Given the description of an element on the screen output the (x, y) to click on. 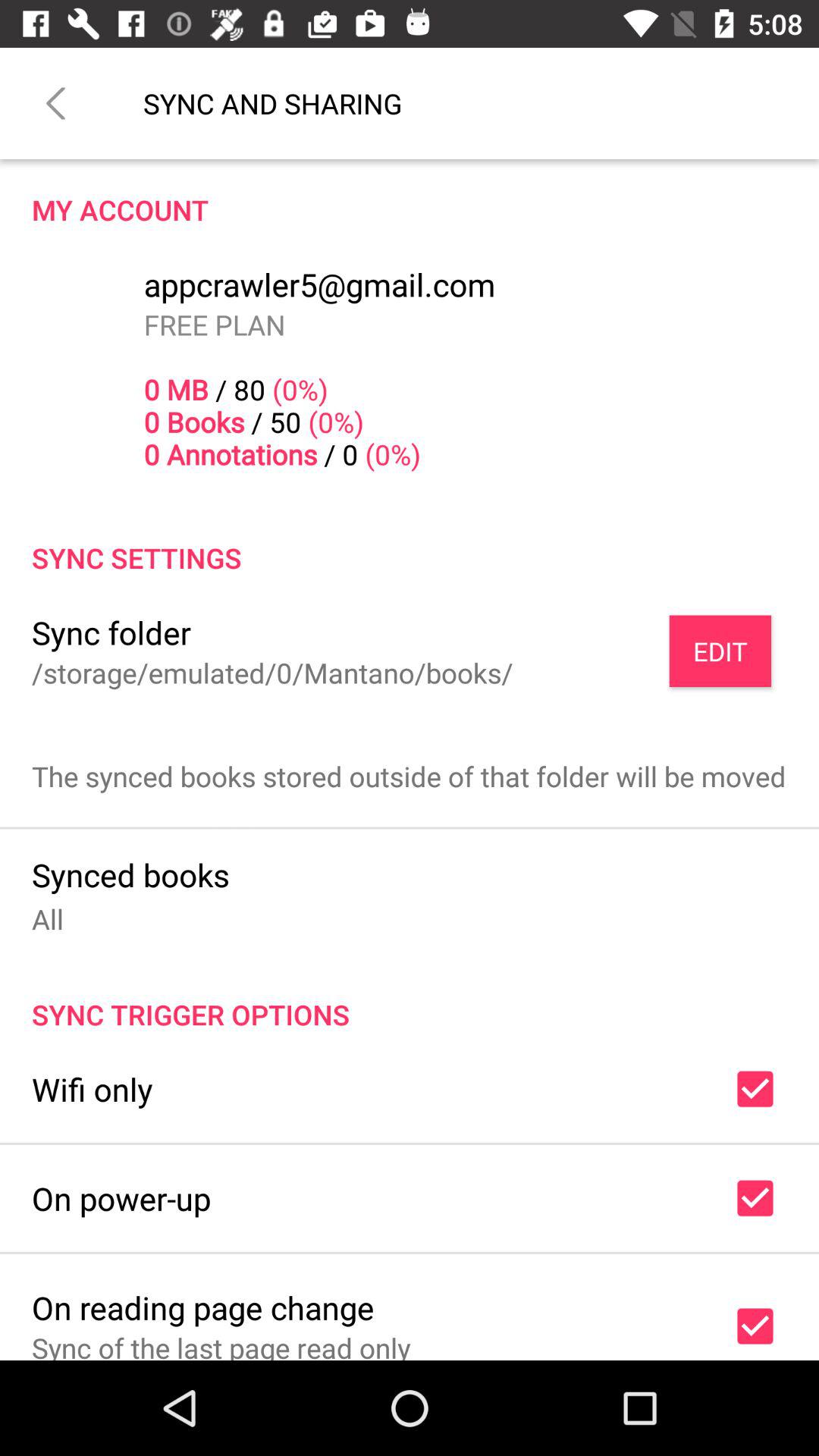
jump until free plan 0 icon (281, 389)
